Given the description of an element on the screen output the (x, y) to click on. 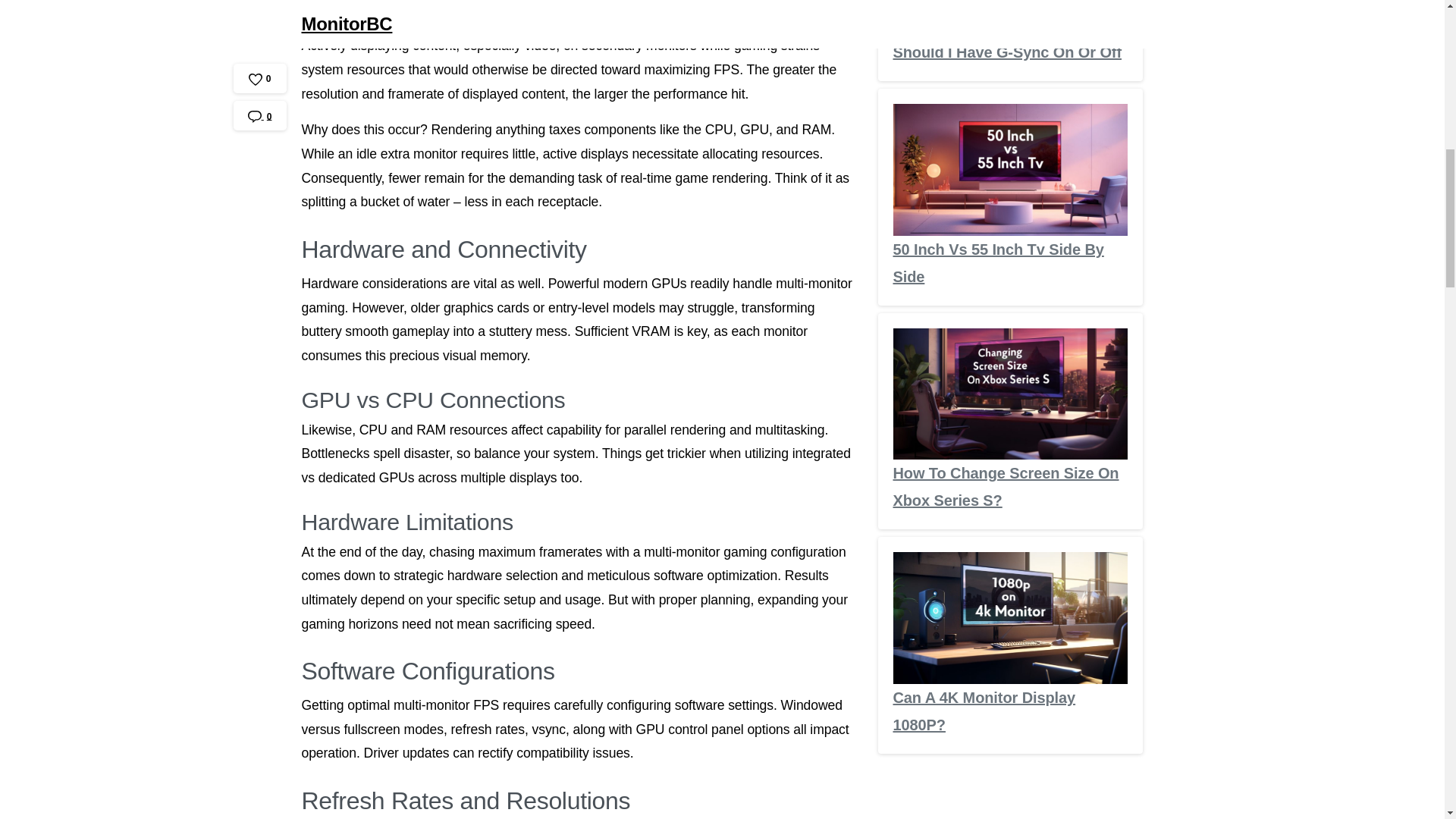
50 Inch Vs 55 Inch Tv Side By Side (998, 16)
Can A 4K Monitor Display 1080P? (984, 459)
How To Change Screen Size On Xbox Series S? (1006, 234)
